Given the description of an element on the screen output the (x, y) to click on. 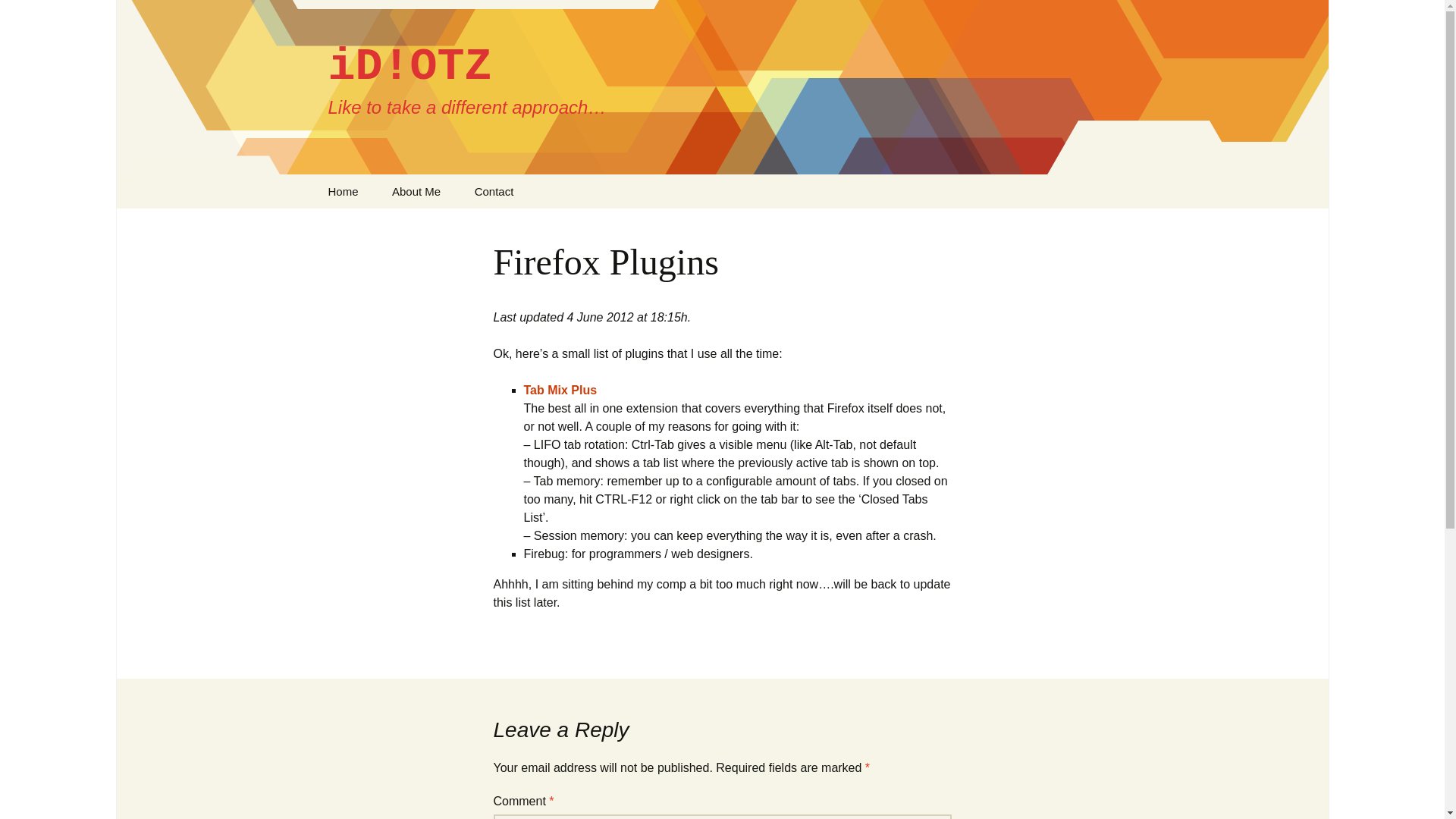
About Me (416, 191)
Home (342, 191)
Tab Mix Plus (559, 390)
Tab Mix Plus (559, 390)
Contact (494, 191)
Search (18, 15)
